Given the description of an element on the screen output the (x, y) to click on. 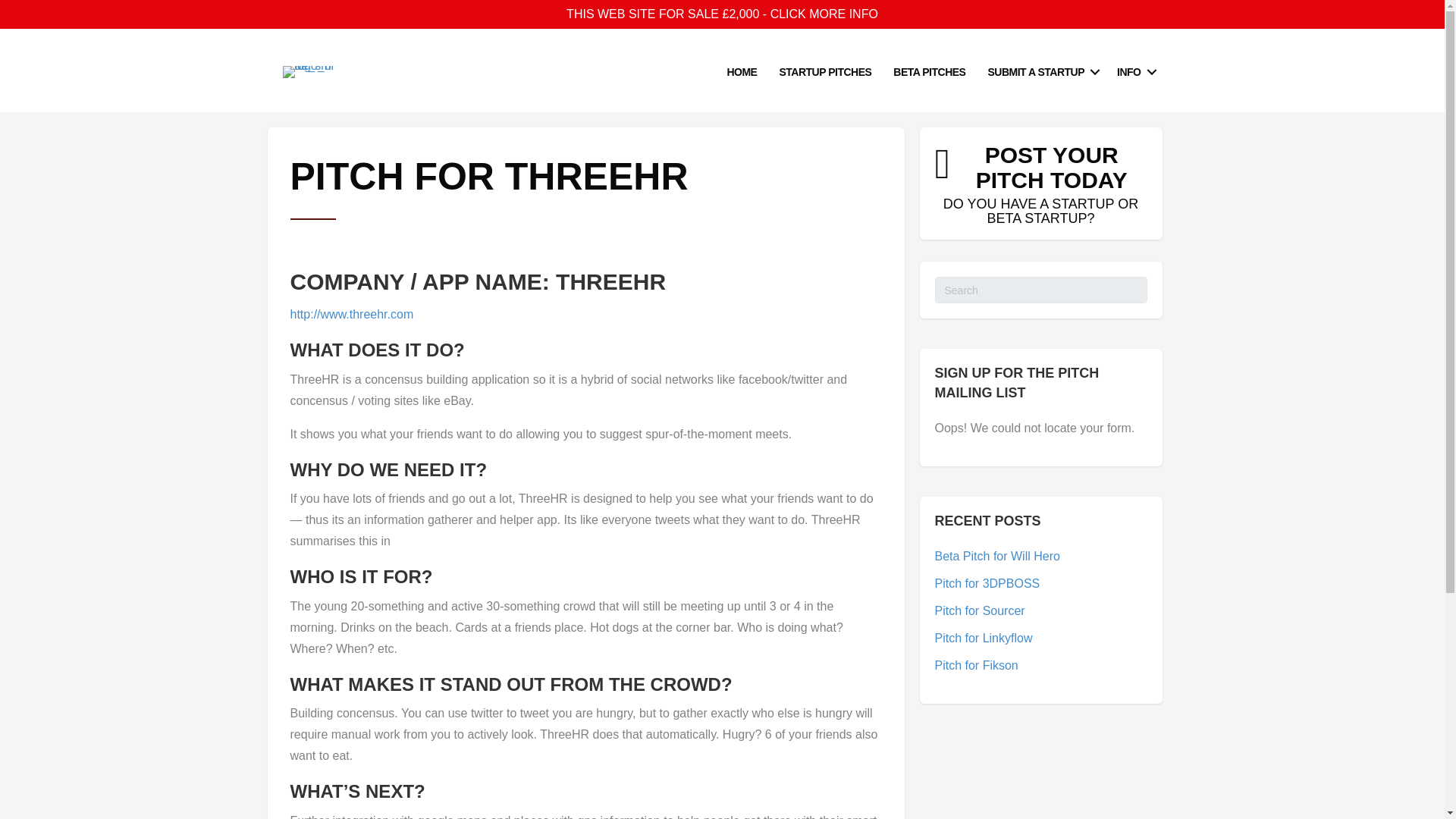
Pitch for 3DPBOSS (986, 583)
INFO (1039, 183)
Pitch for Sourcer (1133, 72)
Pitch for Linkyflow (979, 610)
SUBMIT A STARTUP (983, 637)
Pitch for Fikson (1040, 72)
HOME (975, 665)
STARTUP PITCHES (741, 72)
BETA PITCHES (825, 72)
